Given the description of an element on the screen output the (x, y) to click on. 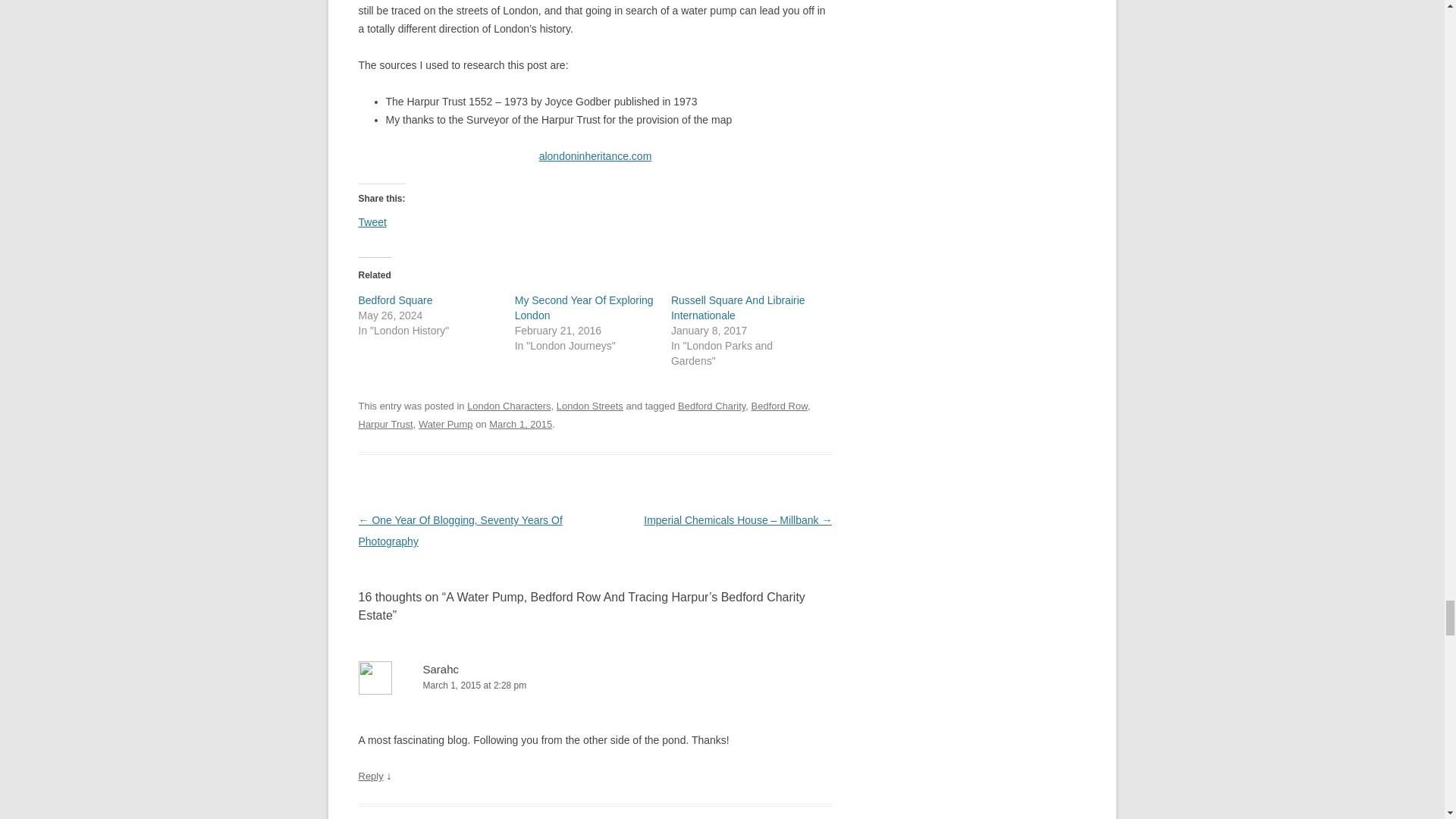
7:58 am (520, 423)
London Characters (508, 405)
alondoninheritance.com (595, 155)
Bedford Square (395, 300)
My Second Year Of Exploring London (584, 307)
Russell Square And Librairie Internationale (738, 307)
Tweet (371, 219)
Bedford Square (395, 300)
My Second Year Of Exploring London (584, 307)
Russell Square And Librairie Internationale (738, 307)
London Streets (589, 405)
